Given the description of an element on the screen output the (x, y) to click on. 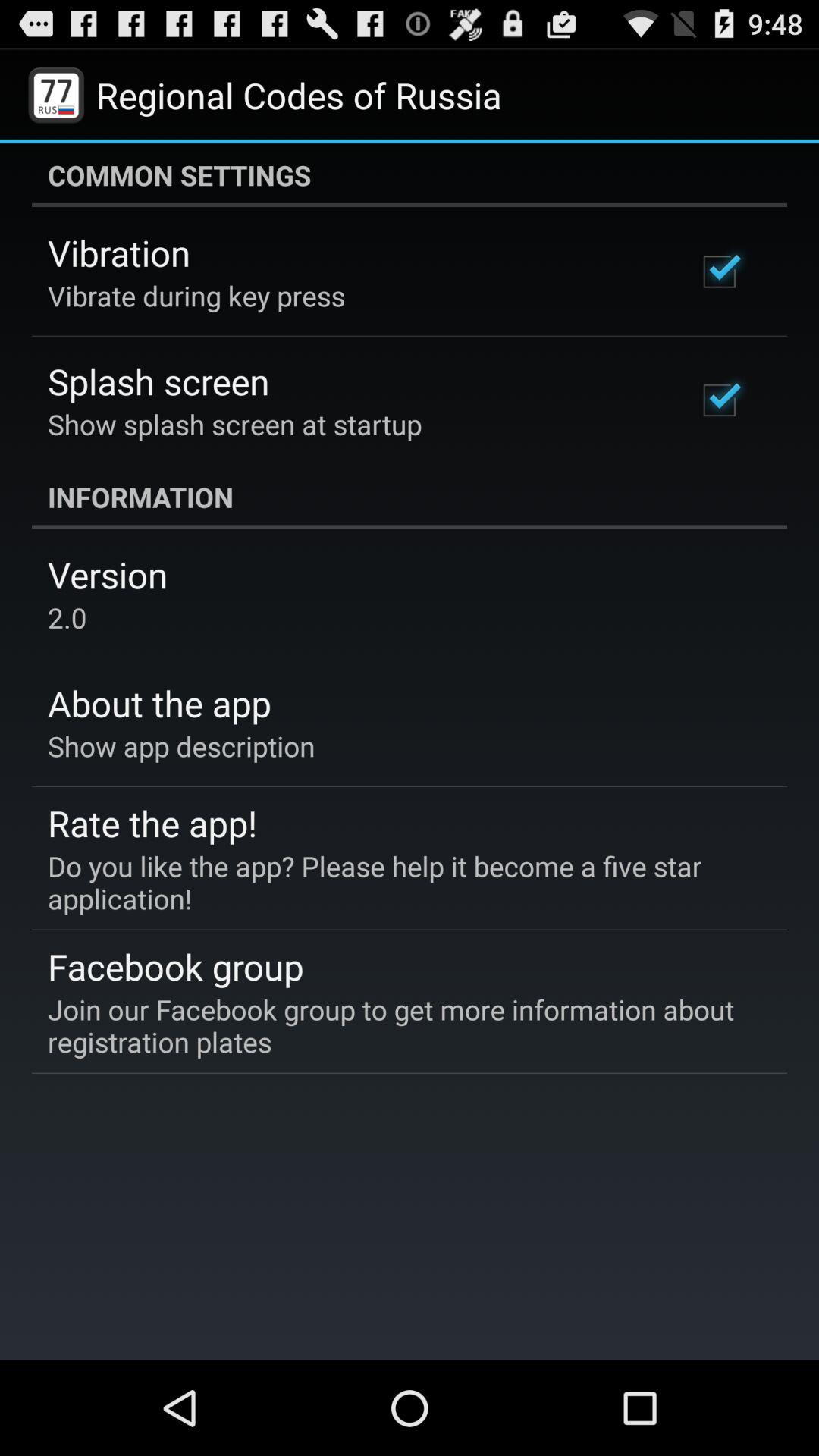
open version (107, 574)
